Given the description of an element on the screen output the (x, y) to click on. 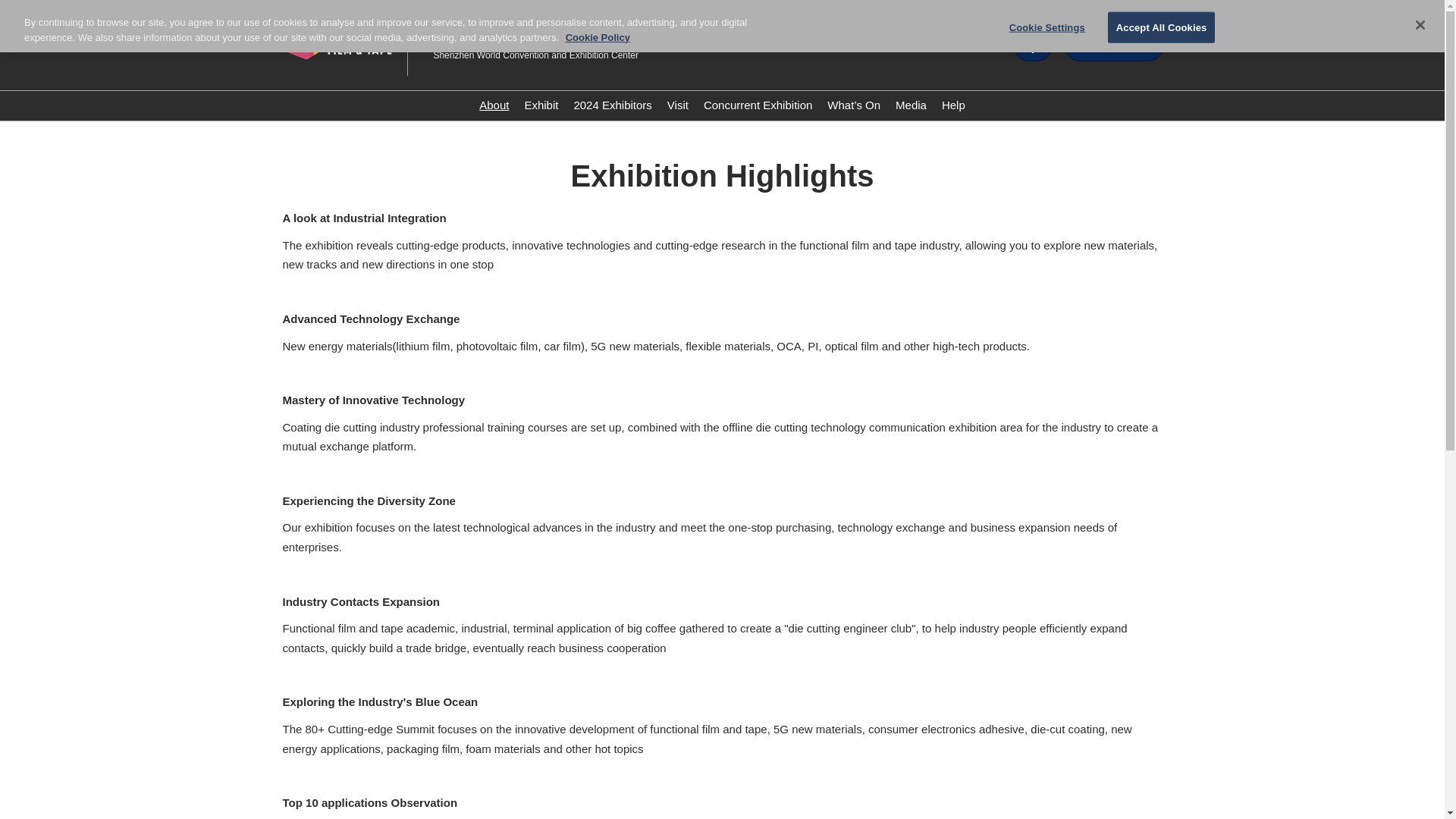
2024 Exhibitors (611, 104)
Exhibit (540, 104)
Pre-Register (1113, 45)
About (493, 104)
Concurrent Exhibition (757, 104)
Display Show Plan (1032, 45)
Visit (677, 104)
English (979, 43)
